Given the description of an element on the screen output the (x, y) to click on. 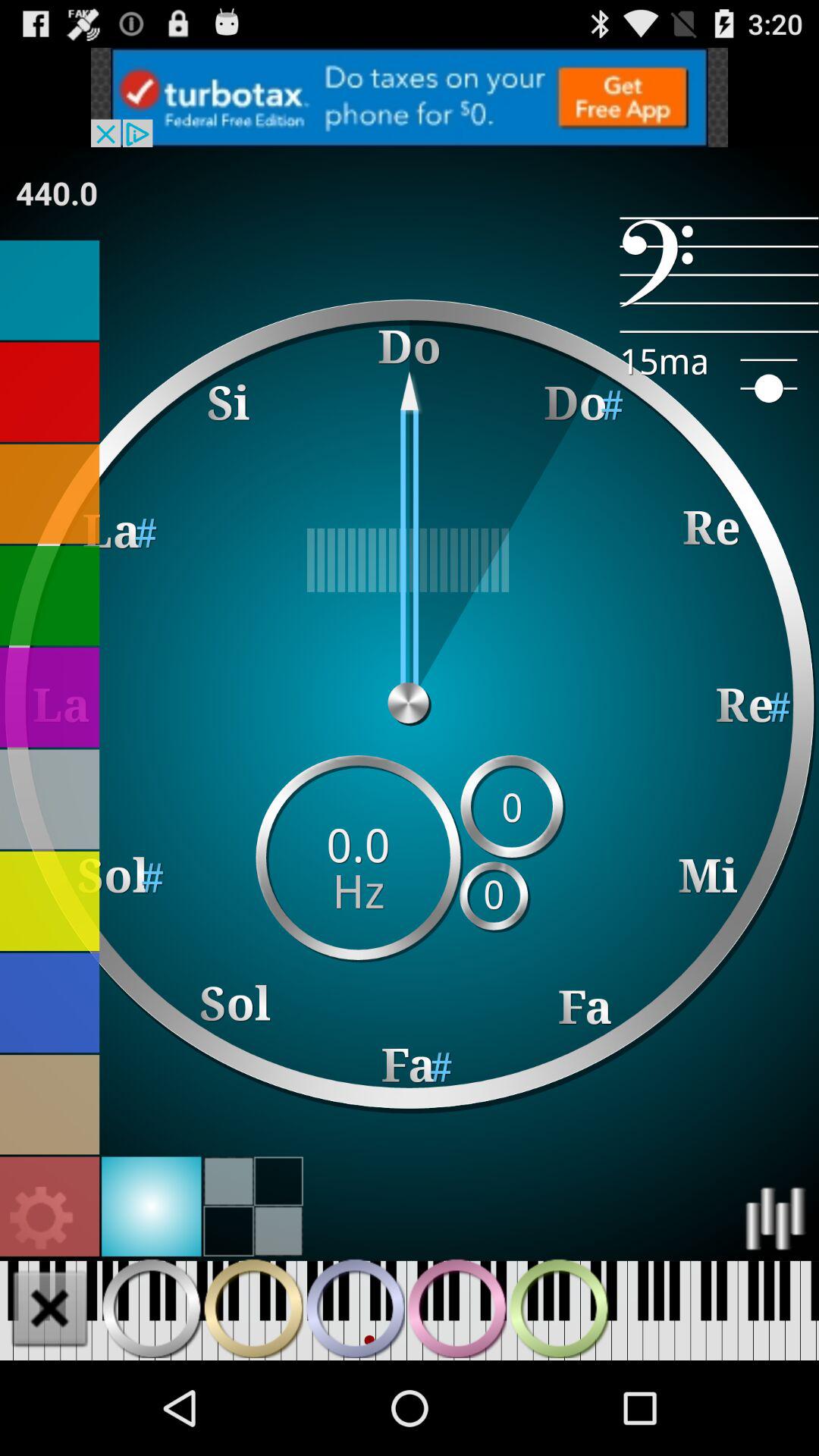
open settings (42, 1218)
